Given the description of an element on the screen output the (x, y) to click on. 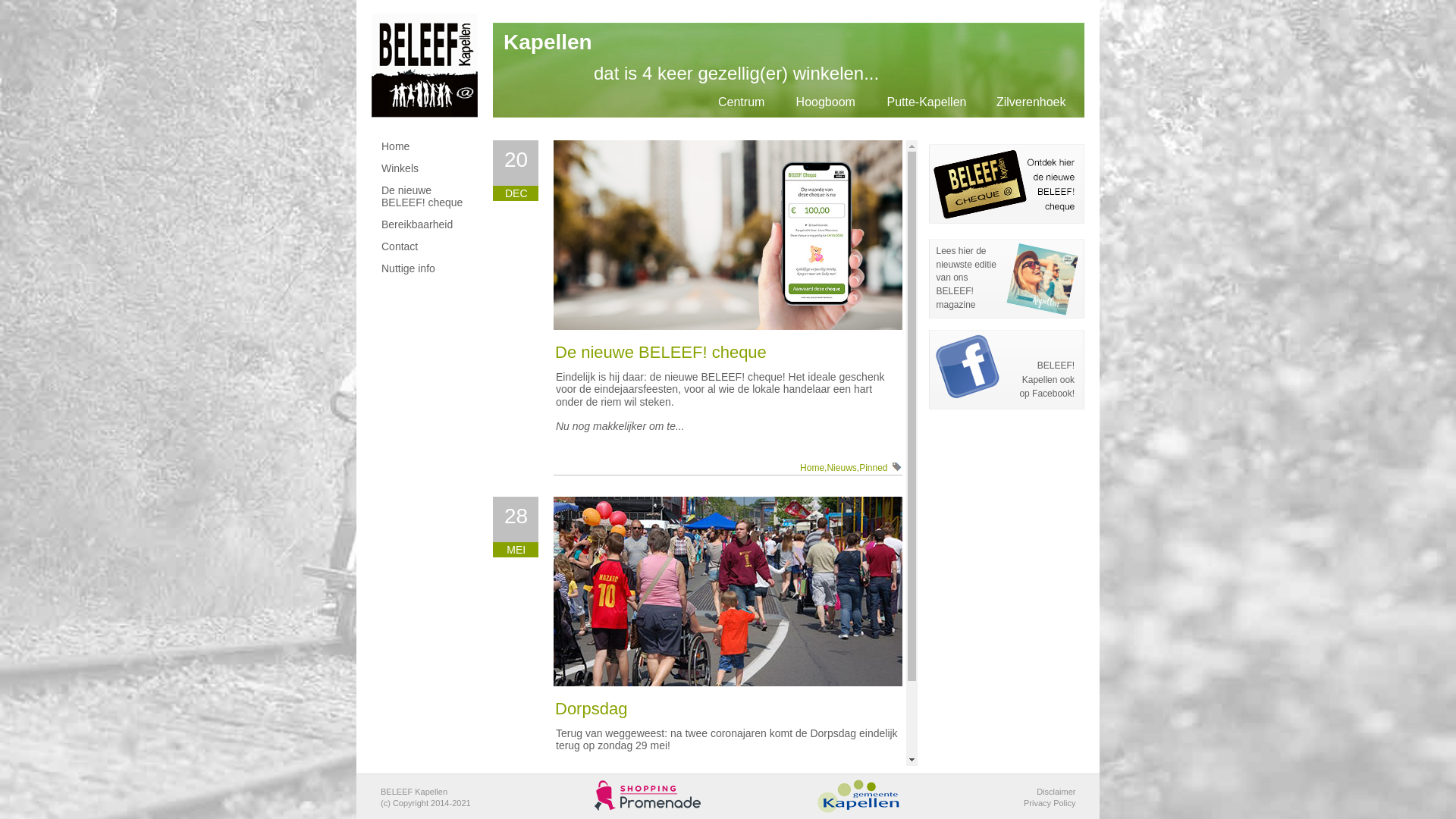
Centrum Element type: text (741, 101)
Nuttige info Element type: text (428, 269)
Zilverenhoek Element type: text (1031, 101)
Hoogboom Element type: text (825, 101)
Bereikbaarheid Element type: text (428, 225)
Winkels Element type: text (428, 169)
Home Element type: text (428, 147)
De nieuwe BELEEF! cheque Element type: text (428, 197)
Putte-Kapellen Element type: text (926, 101)
Contact Element type: text (428, 247)
